Given the description of an element on the screen output the (x, y) to click on. 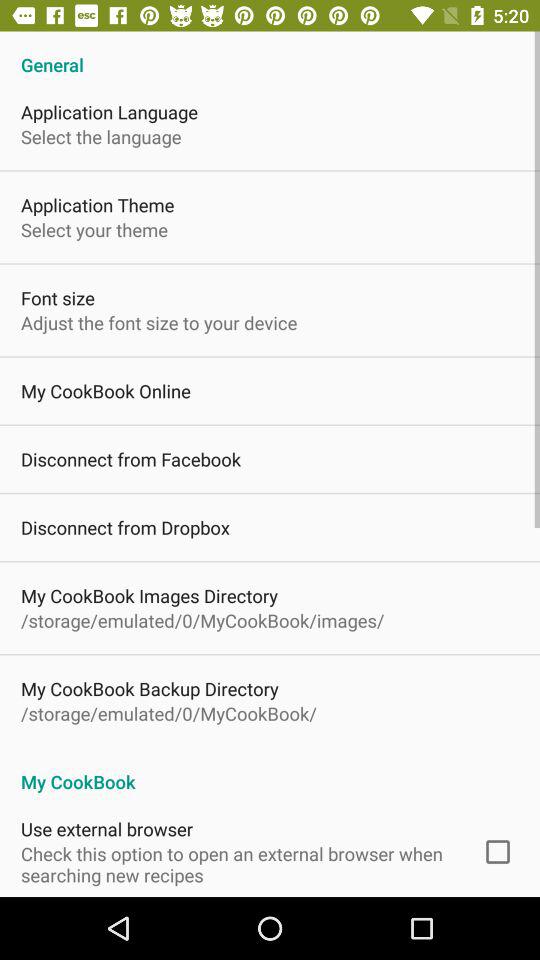
swipe to select the language icon (101, 136)
